Given the description of an element on the screen output the (x, y) to click on. 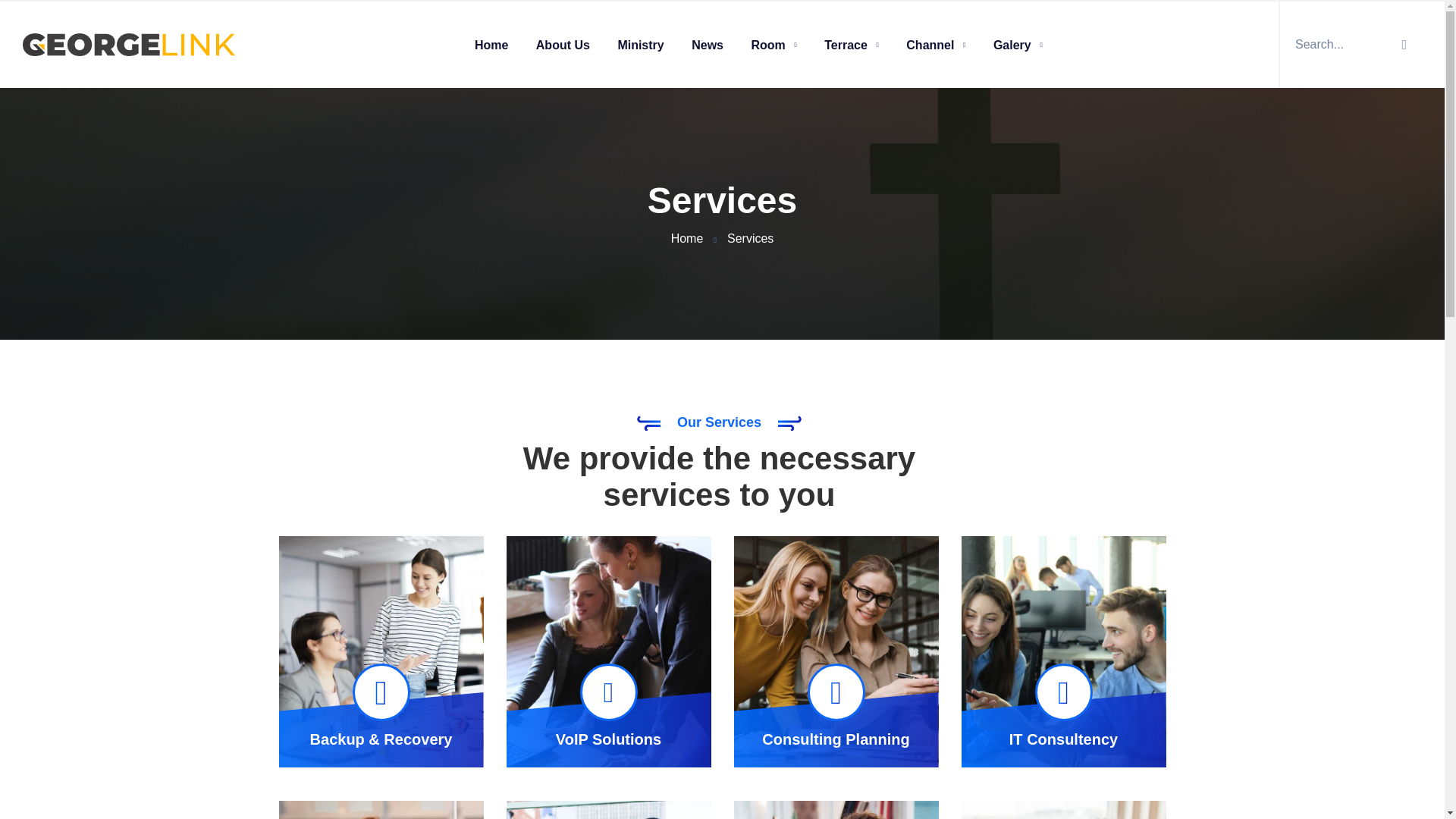
service4 (381, 809)
service3 (608, 809)
service1 (1063, 809)
service2 (722, 462)
